Given the description of an element on the screen output the (x, y) to click on. 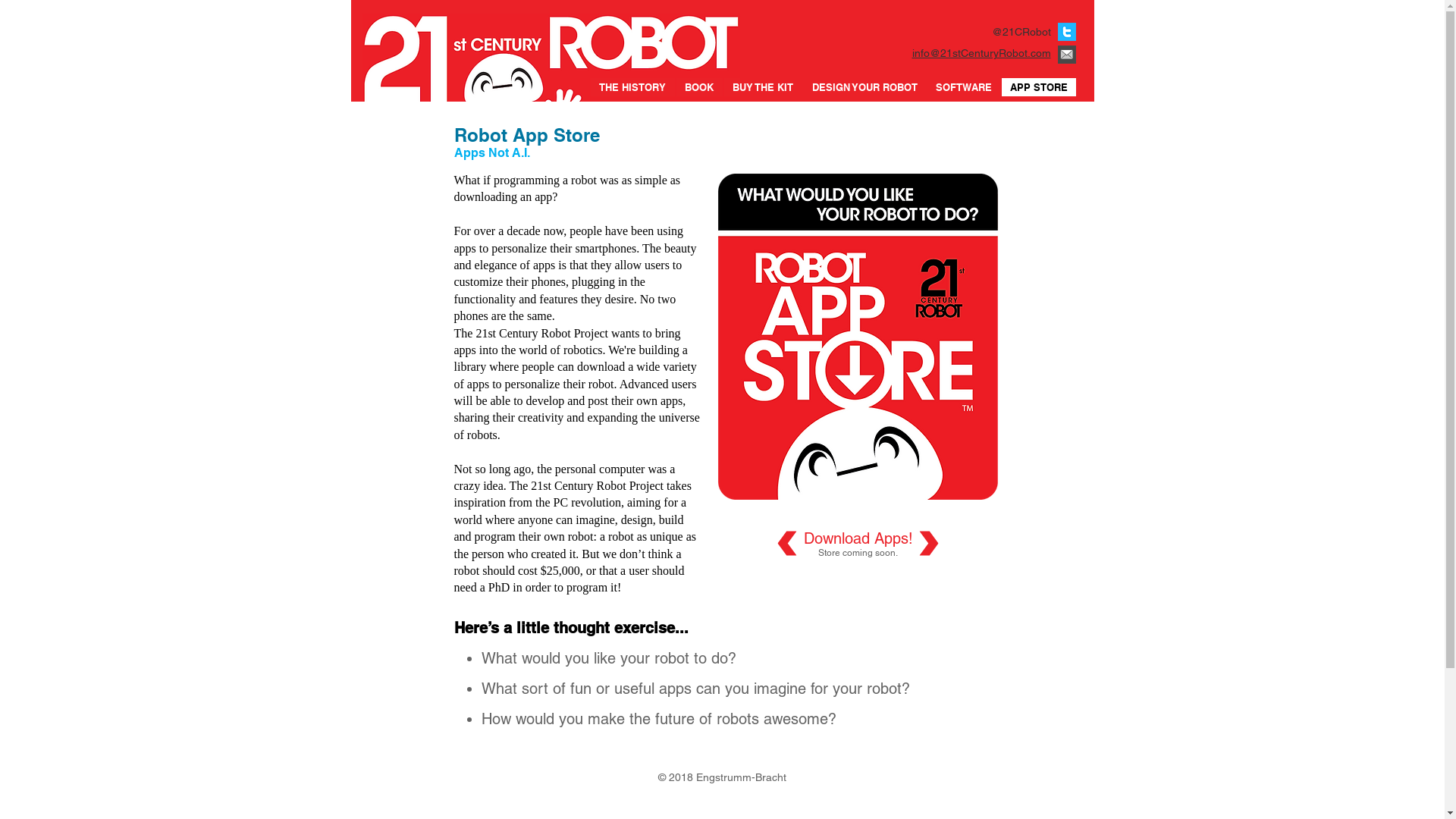
APP STORE Element type: text (1038, 87)
info@21stCenturyRobot.com Element type: text (980, 53)
BUY THE KIT Element type: text (762, 87)
website logo 4.png Element type: hover (551, 57)
Mail.png Element type: hover (1066, 54)
@21CRobot Element type: text (1021, 31)
DESIGN YOUR ROBOT Element type: text (864, 87)
BOOK Element type: text (699, 87)
SOFTWARE Element type: text (962, 87)
THE HISTORY Element type: text (631, 87)
Twitter_alt_4.png Element type: hover (1066, 31)
